Given the description of an element on the screen output the (x, y) to click on. 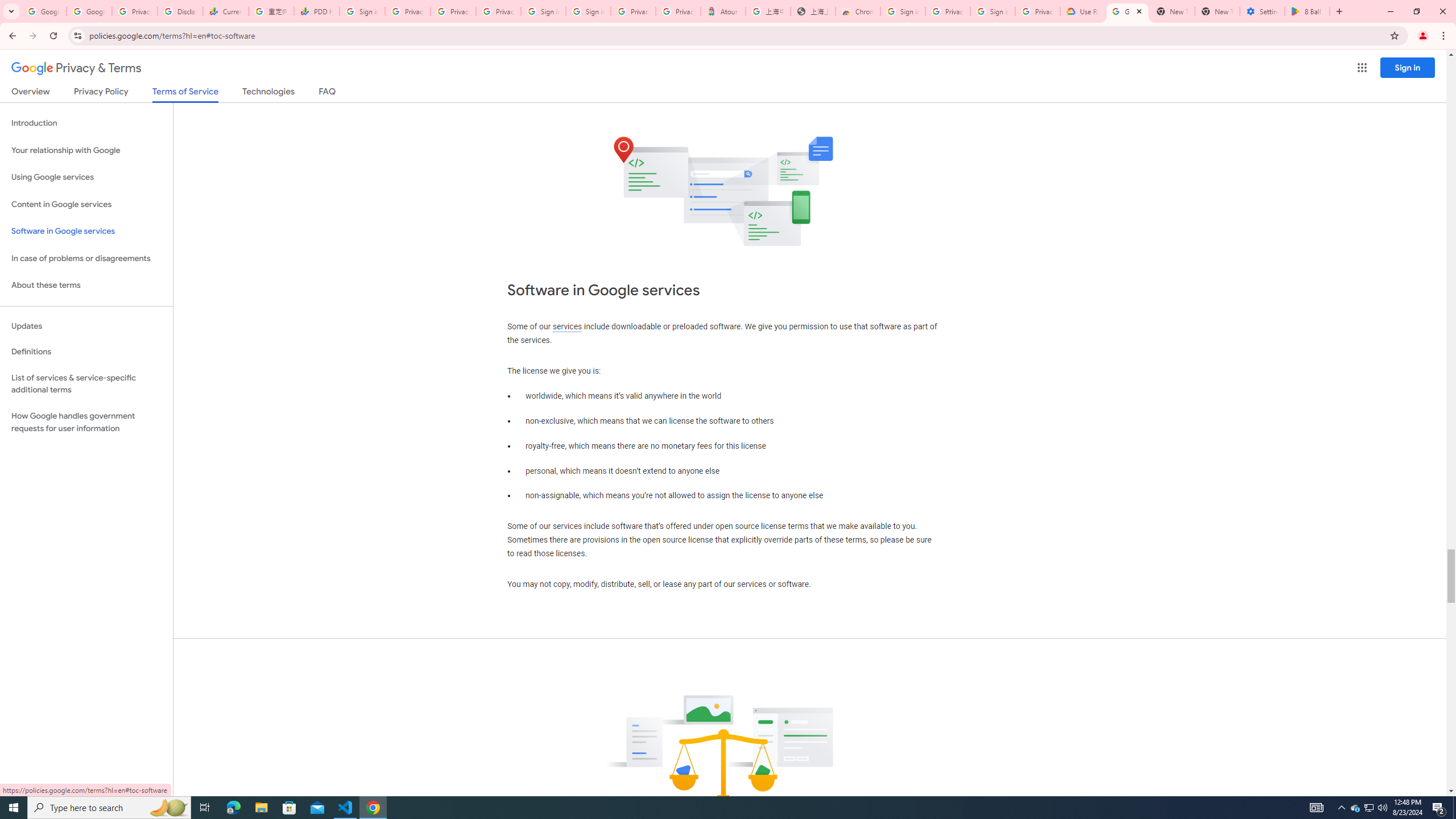
Sign in - Google Accounts (992, 11)
Software in Google services (86, 230)
Sign in - Google Accounts (902, 11)
Chrome Web Store - Color themes by Chrome (857, 11)
